Given the description of an element on the screen output the (x, y) to click on. 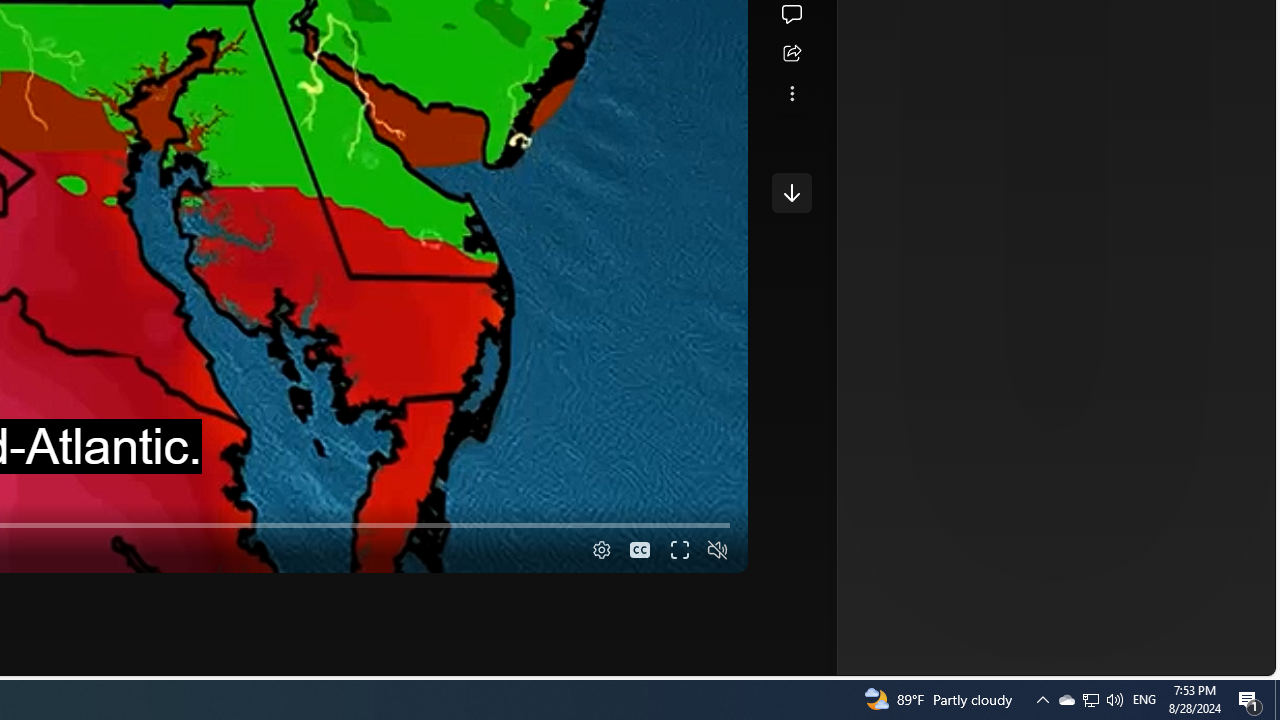
Ad (766, 337)
See more (791, 93)
See more (791, 93)
Feedback (1199, 659)
Unmute (717, 550)
Fullscreen (680, 550)
Ad Choice (1015, 336)
Quality Settings (599, 550)
Class: control (791, 192)
Share this story (791, 53)
